Given the description of an element on the screen output the (x, y) to click on. 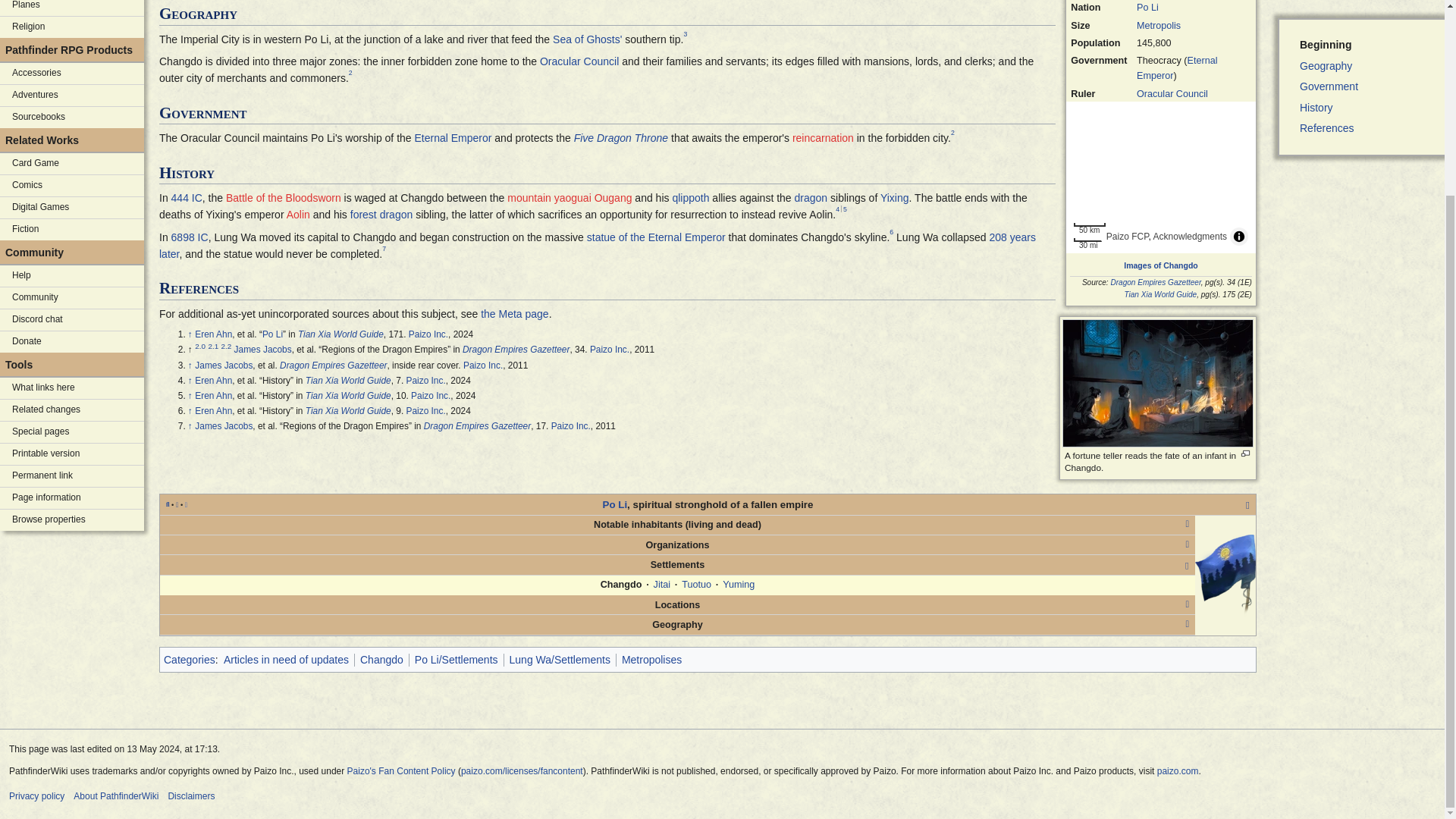
Digital Games (72, 207)
Planes (72, 7)
Permanent link (72, 476)
More information about this page (72, 497)
Special pages (72, 432)
Browse properties (72, 519)
Discord chat (72, 319)
What links here (72, 387)
Fiction (72, 229)
Donate (72, 341)
Sourcebooks (72, 117)
Accessories (72, 73)
Page information (72, 497)
Printable version (72, 454)
Permanent link to this revision of this page (72, 476)
